Given the description of an element on the screen output the (x, y) to click on. 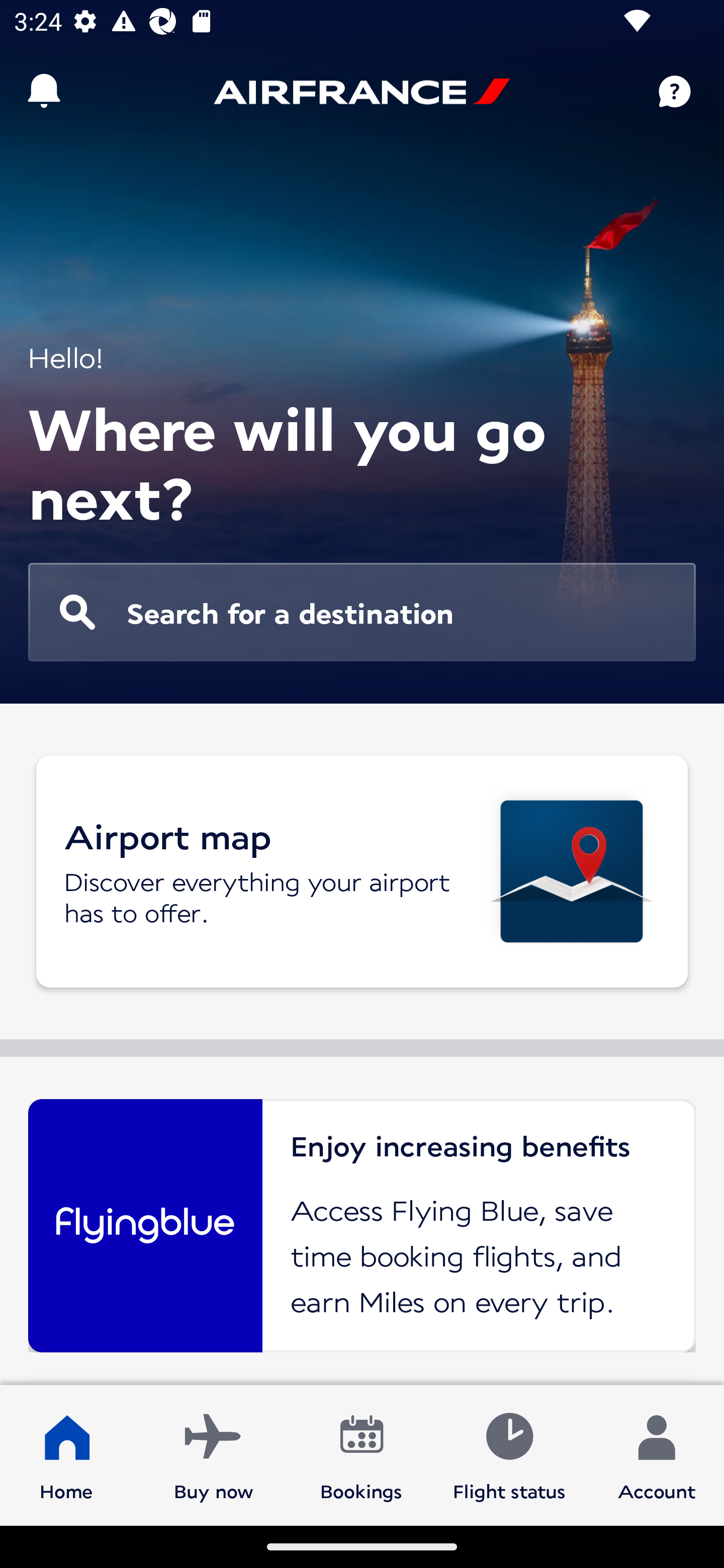
Search for a destination (361, 611)
Buy now (213, 1454)
Bookings (361, 1454)
Flight status (509, 1454)
Account (657, 1454)
